Given the description of an element on the screen output the (x, y) to click on. 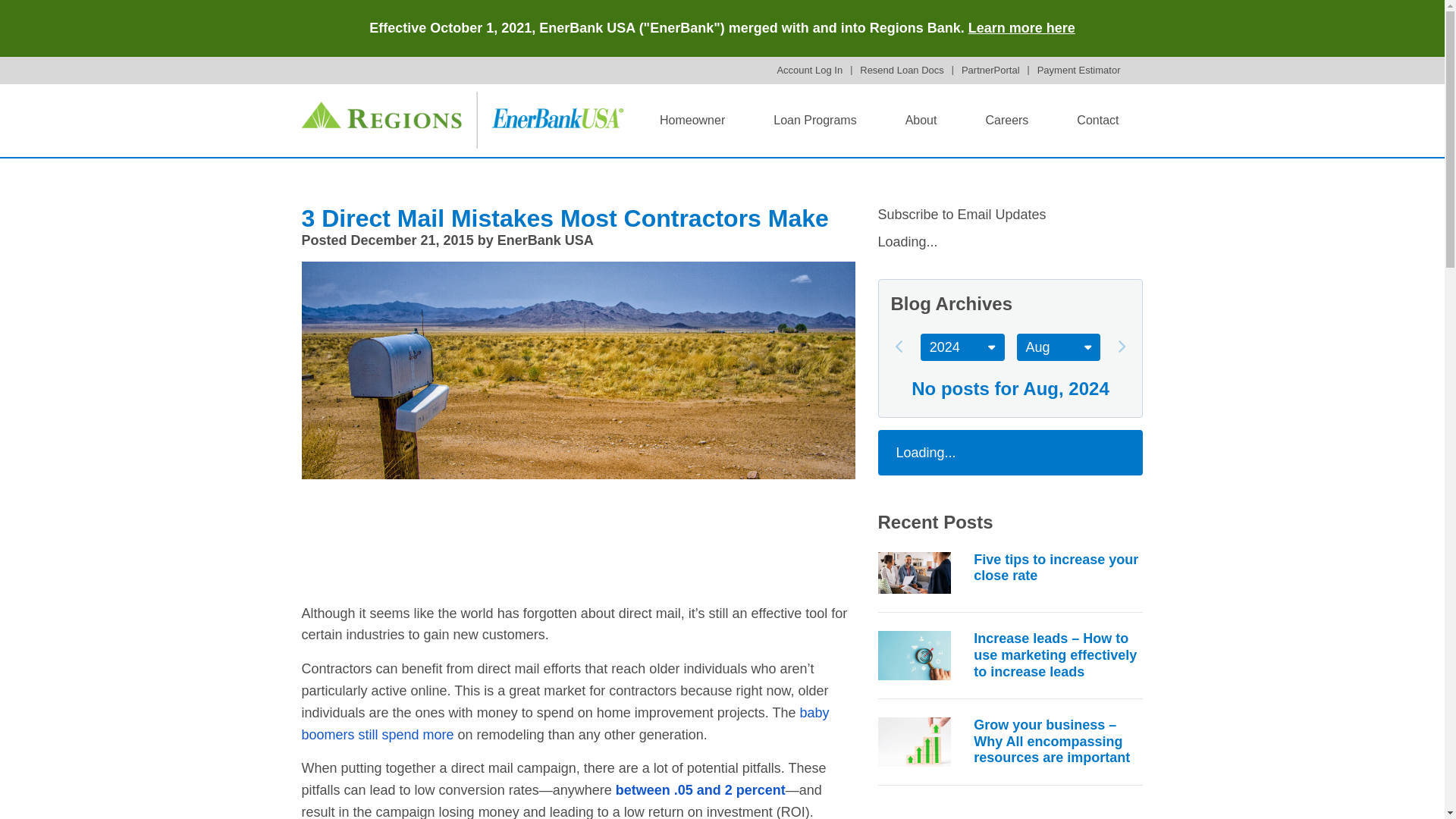
Loan Programs (814, 120)
Homeowner (691, 120)
Payment Estimator (1078, 70)
Contact (1097, 120)
About (920, 120)
Resend Loan Docs (901, 70)
Careers (1006, 120)
Account Log In (809, 70)
PartnerPortal (990, 70)
Learn more here (1021, 28)
